Given the description of an element on the screen output the (x, y) to click on. 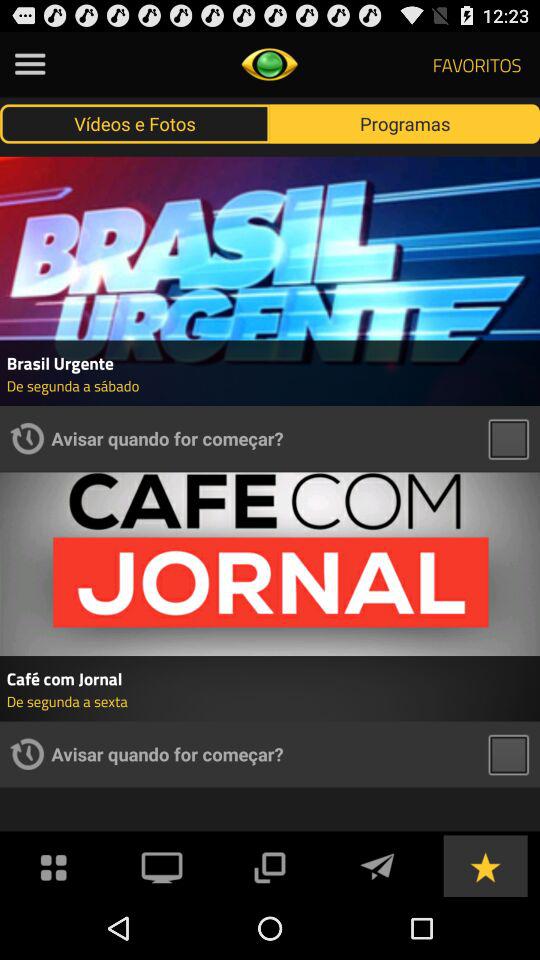
go to next (377, 865)
